Given the description of an element on the screen output the (x, y) to click on. 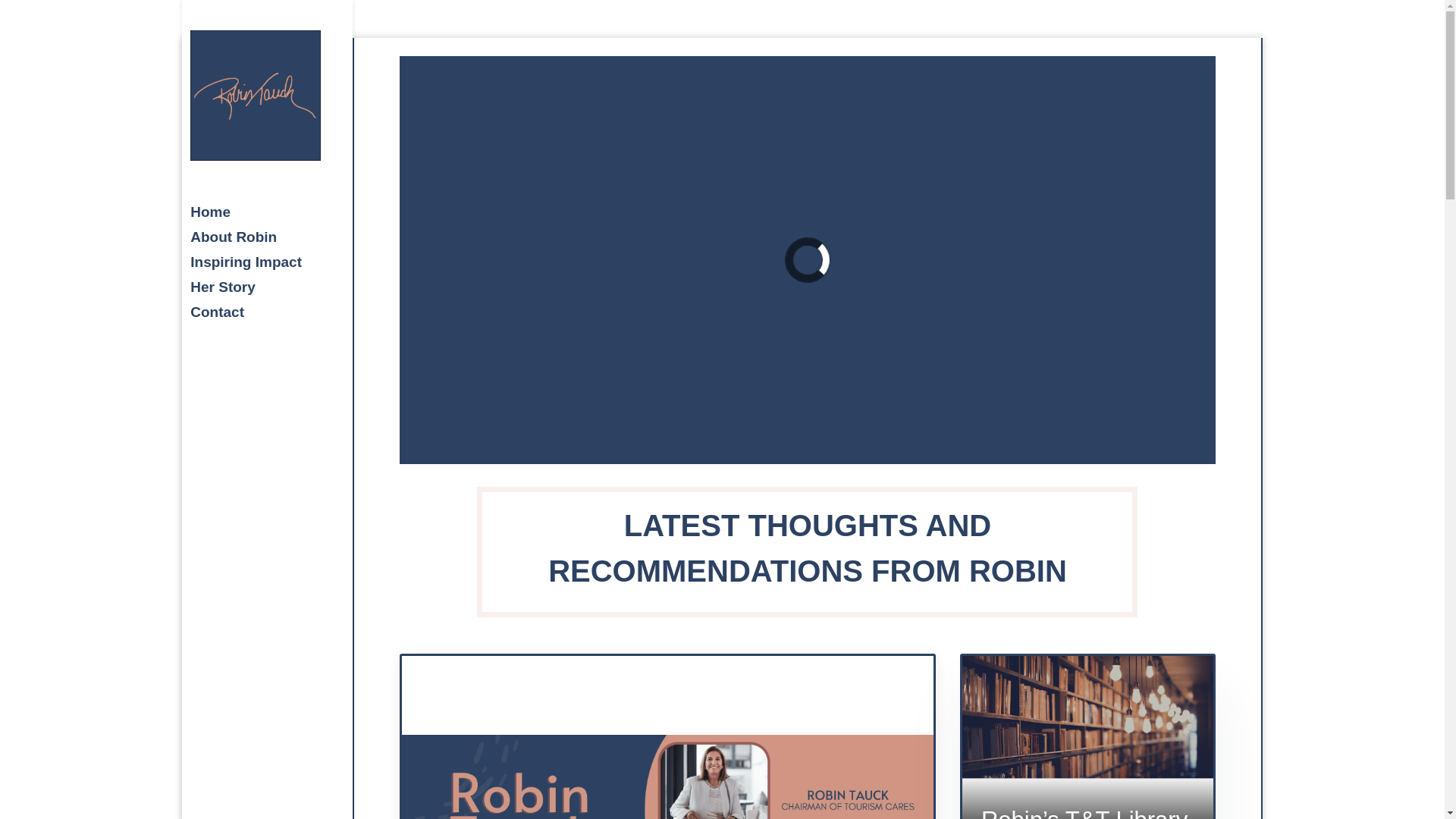
About Robin (282, 244)
Home (282, 219)
Inspiring Impact (282, 269)
Her Story (282, 294)
Contact (282, 319)
